Given the description of an element on the screen output the (x, y) to click on. 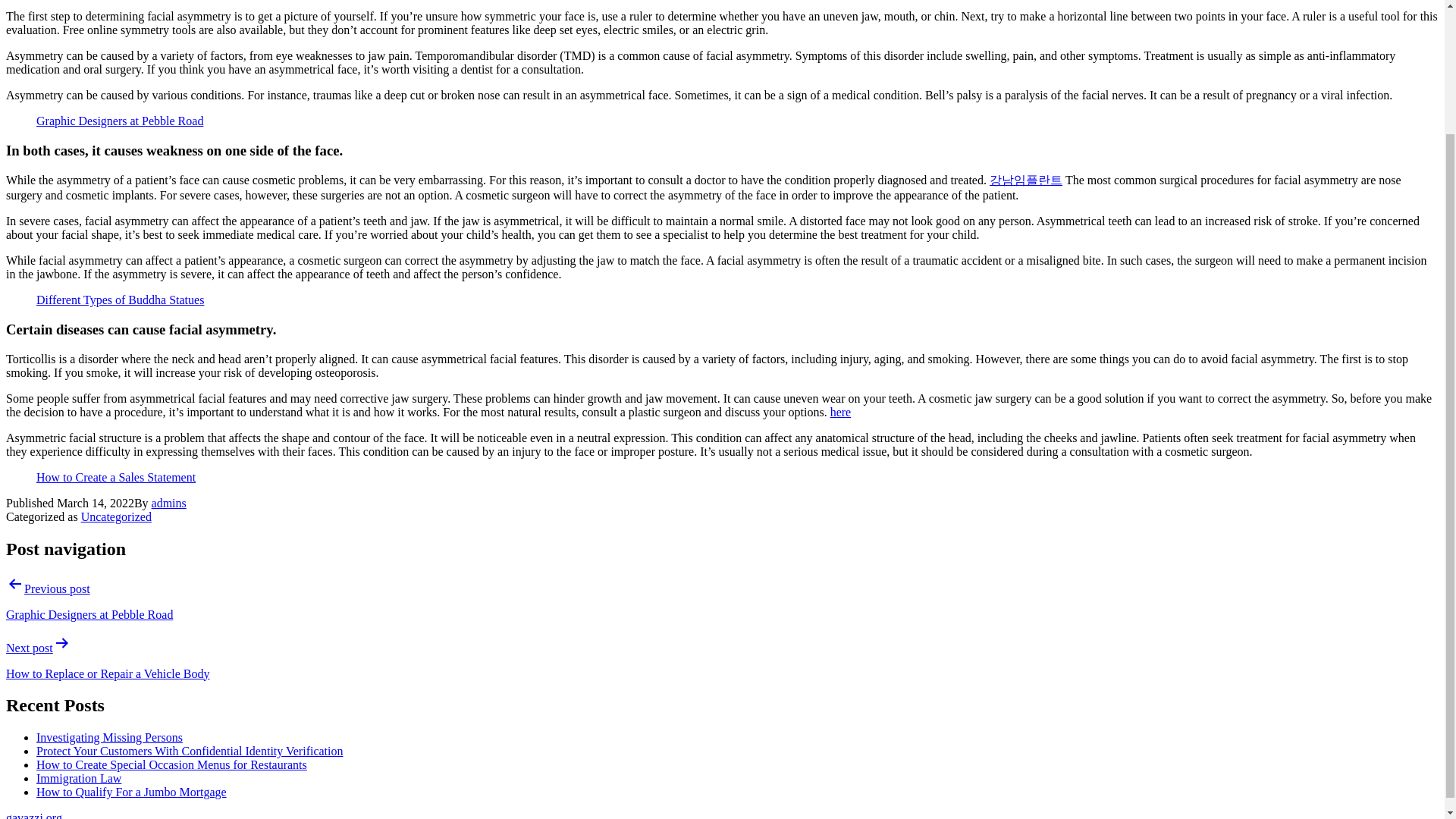
Immigration Law (78, 778)
How to Qualify For a Jumbo Mortgage (131, 791)
Uncategorized (116, 516)
Investigating Missing Persons (109, 737)
admins (168, 502)
Graphic Designers at Pebble Road (119, 120)
How to Create Special Occasion Menus for Restaurants (171, 764)
Different Types of Buddha Statues (119, 299)
here (840, 411)
